Given the description of an element on the screen output the (x, y) to click on. 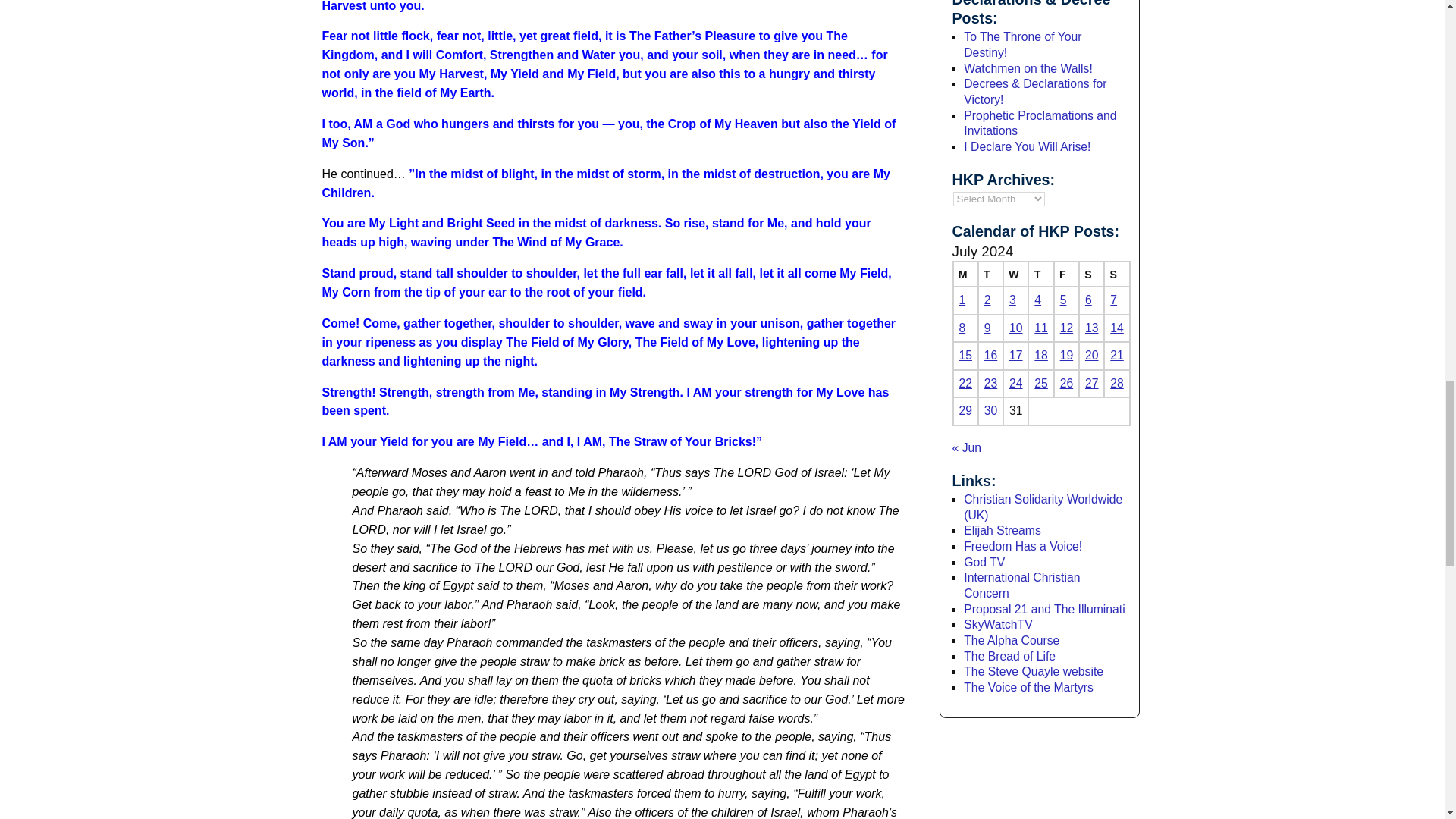
Wednesday (1015, 273)
Tuesday (990, 273)
Monday (964, 273)
Thursday (1039, 273)
Friday (1066, 273)
Saturday (1090, 273)
Sunday (1116, 273)
